Given the description of an element on the screen output the (x, y) to click on. 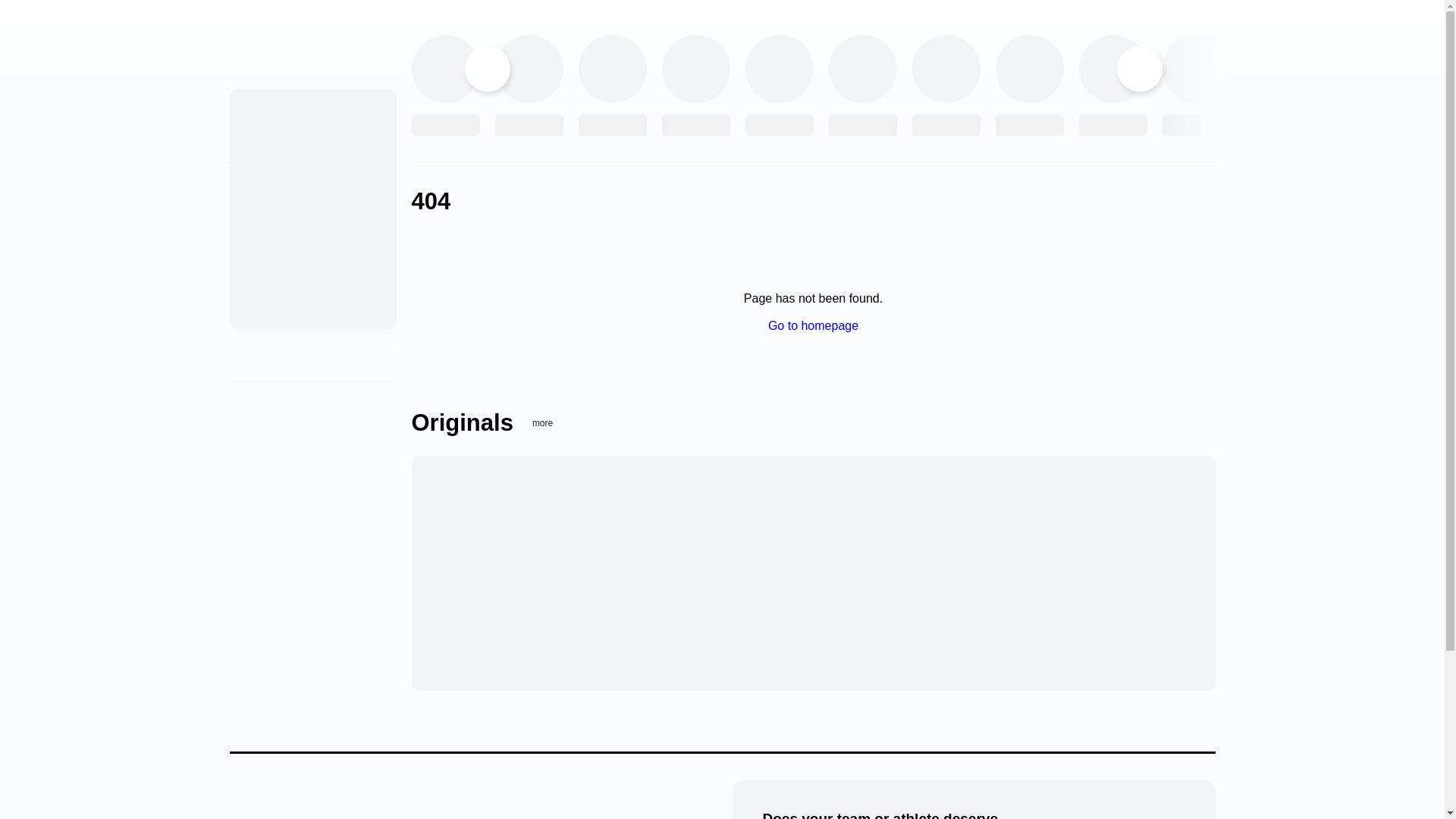
Favorites (252, 225)
Home (252, 104)
Submit a story (265, 286)
more (552, 422)
Account (249, 255)
Originals (251, 134)
More Sports (259, 195)
Watch (244, 164)
Search (246, 315)
Go to homepage (813, 325)
